Given the description of an element on the screen output the (x, y) to click on. 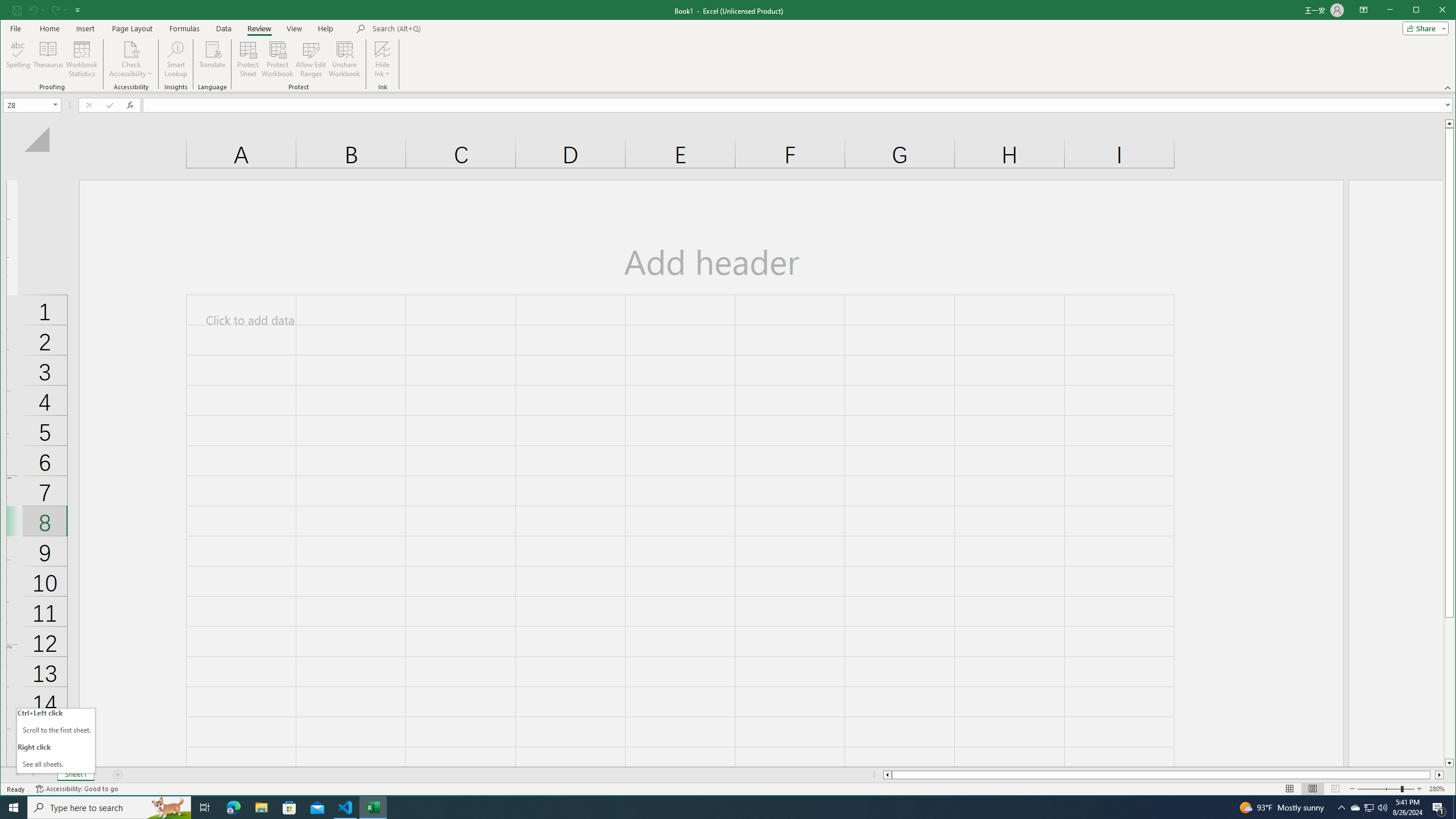
Task View (204, 807)
Protect Sheet... (247, 59)
Type here to search (108, 807)
Thesaurus... (48, 59)
